Given the description of an element on the screen output the (x, y) to click on. 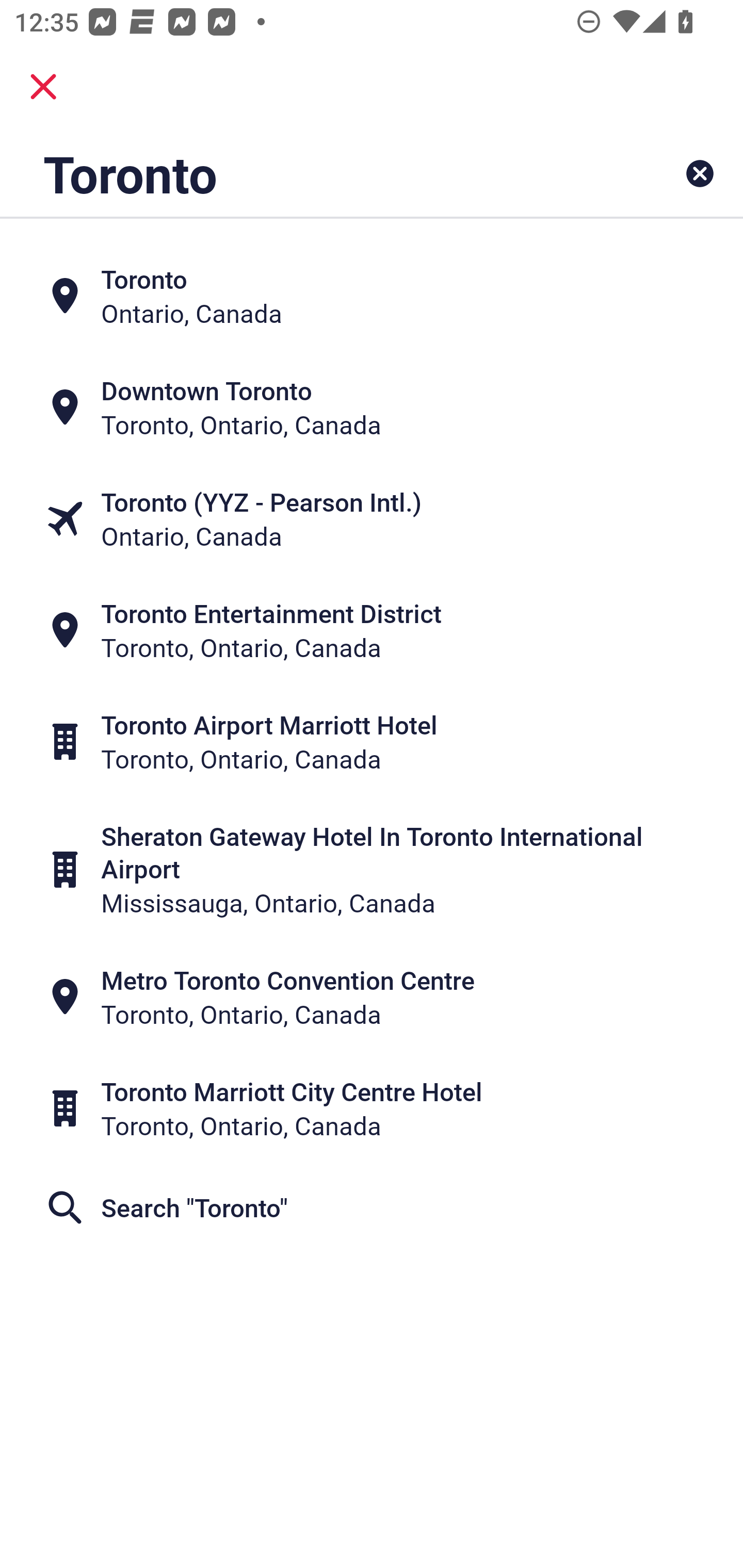
close. (43, 86)
Clear (699, 173)
Toronto (306, 173)
Toronto Ontario, Canada (371, 295)
Downtown Toronto Toronto, Ontario, Canada (371, 406)
Toronto (YYZ - Pearson Intl.) Ontario, Canada (371, 517)
Search "Toronto" (371, 1207)
